Given the description of an element on the screen output the (x, y) to click on. 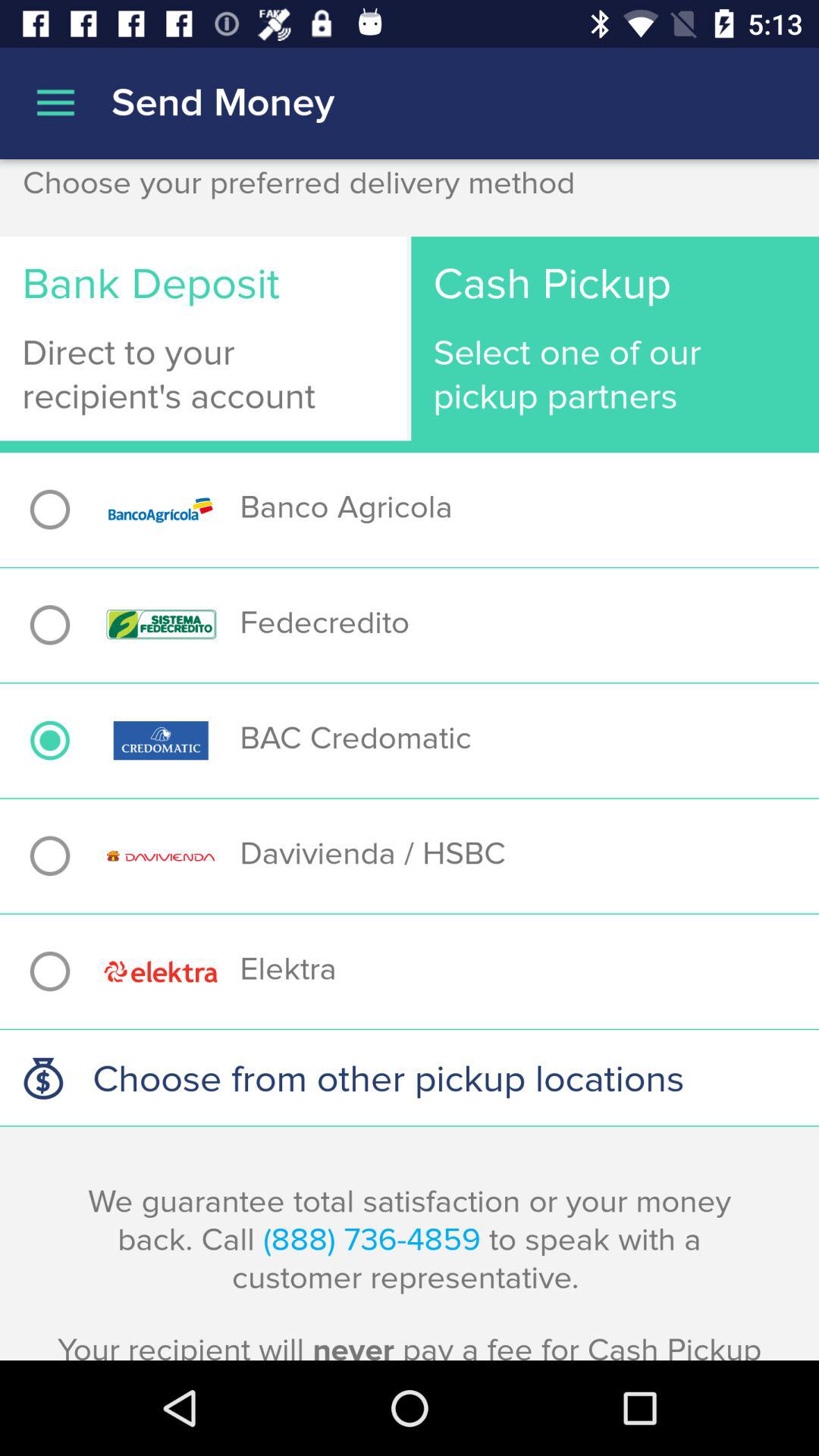
jump to the we guarantee total item (409, 1271)
